Given the description of an element on the screen output the (x, y) to click on. 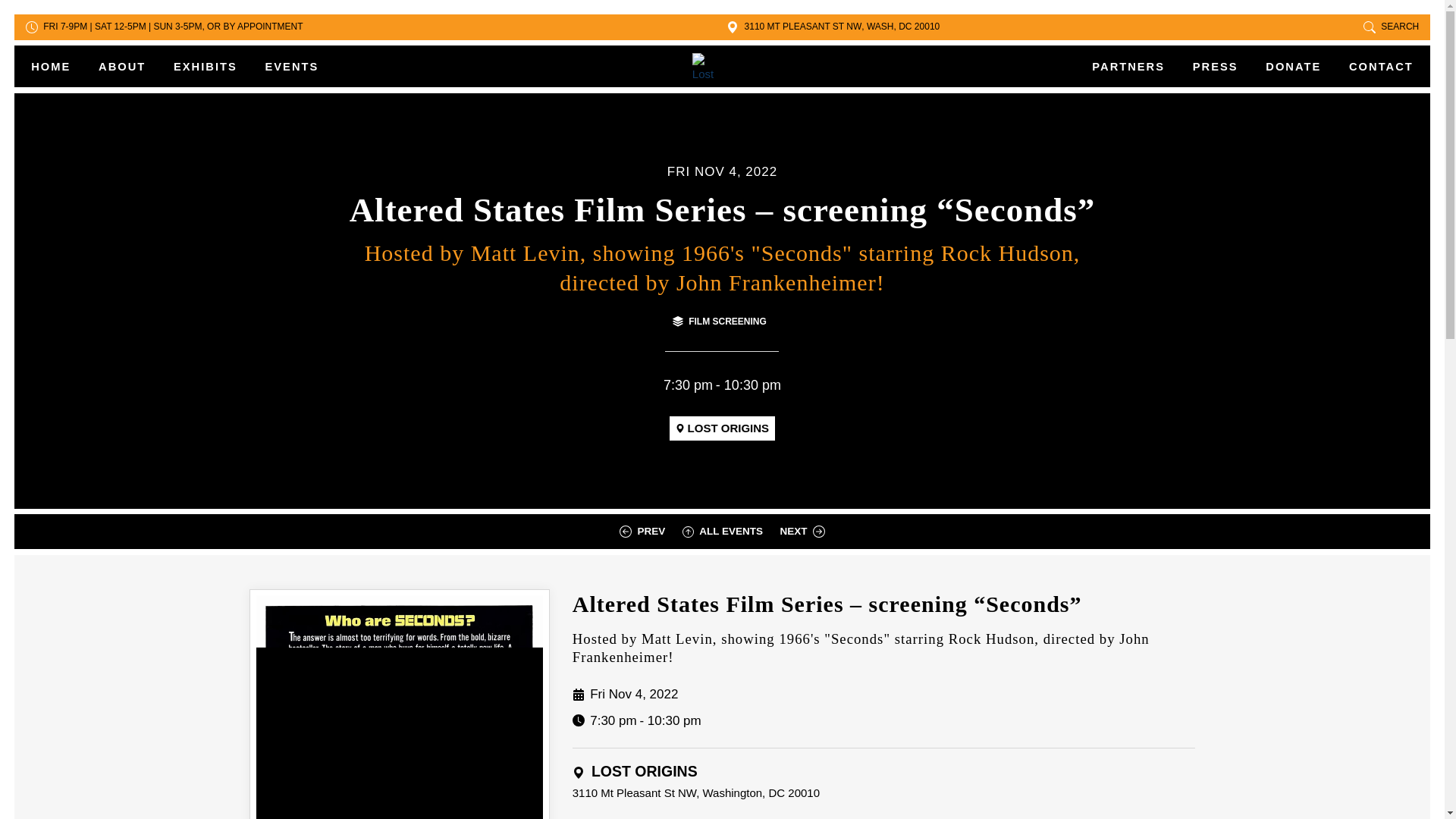
EVENTS (284, 66)
HOME (57, 66)
FILM SCREENING (719, 321)
Search (1390, 26)
Press (1214, 66)
ABOUT (122, 66)
Home (57, 66)
Contact (1374, 66)
Donate (1293, 66)
DONATE (1293, 66)
